Given the description of an element on the screen output the (x, y) to click on. 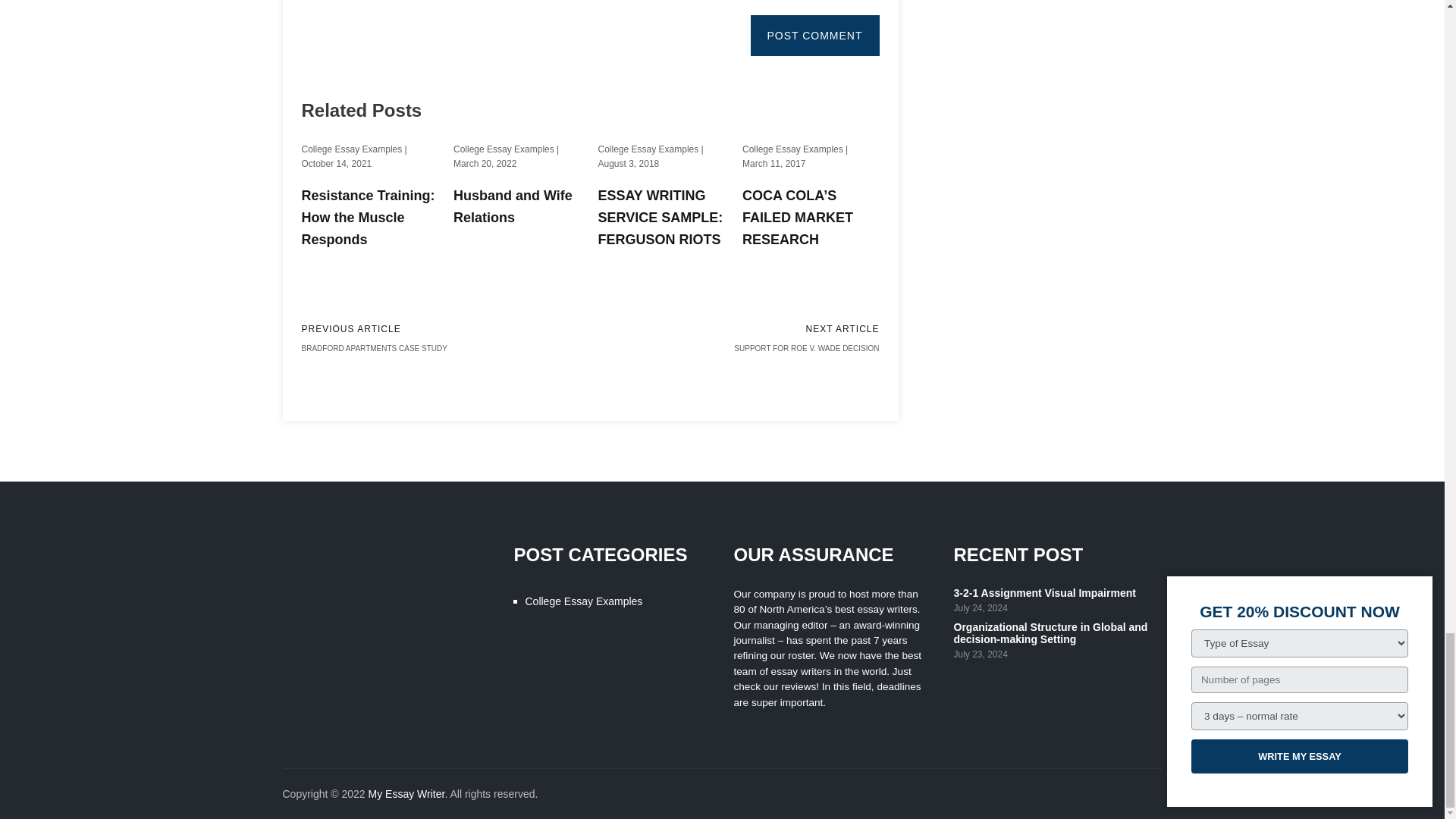
Post Comment (815, 35)
